Given the description of an element on the screen output the (x, y) to click on. 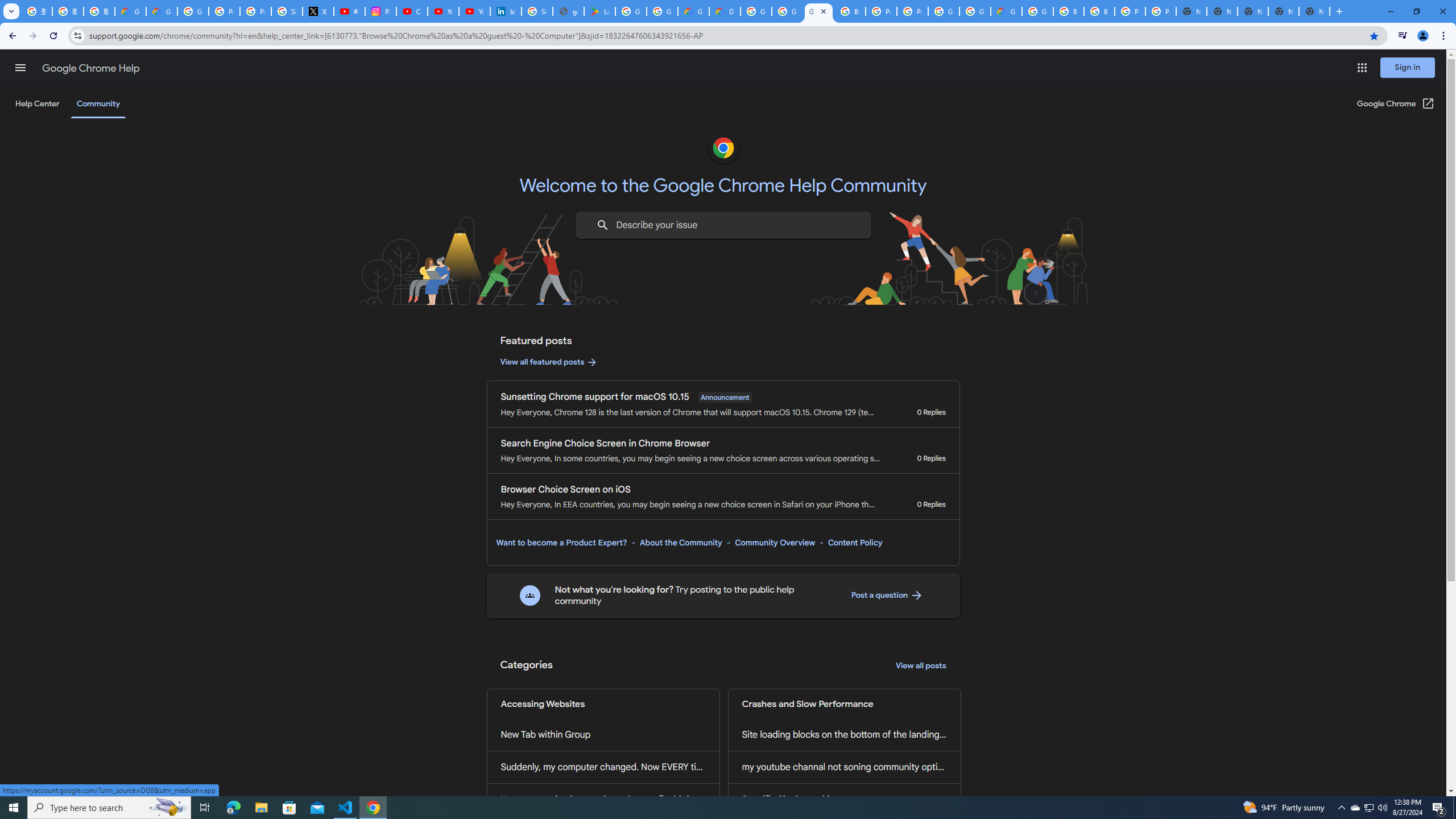
Google Cloud Privacy Notice (161, 11)
Sign in - Google Accounts (286, 11)
About the Community (680, 542)
Google Cloud Platform (756, 11)
YouTube Culture & Trends - YouTube Top 10, 2021 (474, 11)
Privacy Help Center - Policies Help (255, 11)
